Given the description of an element on the screen output the (x, y) to click on. 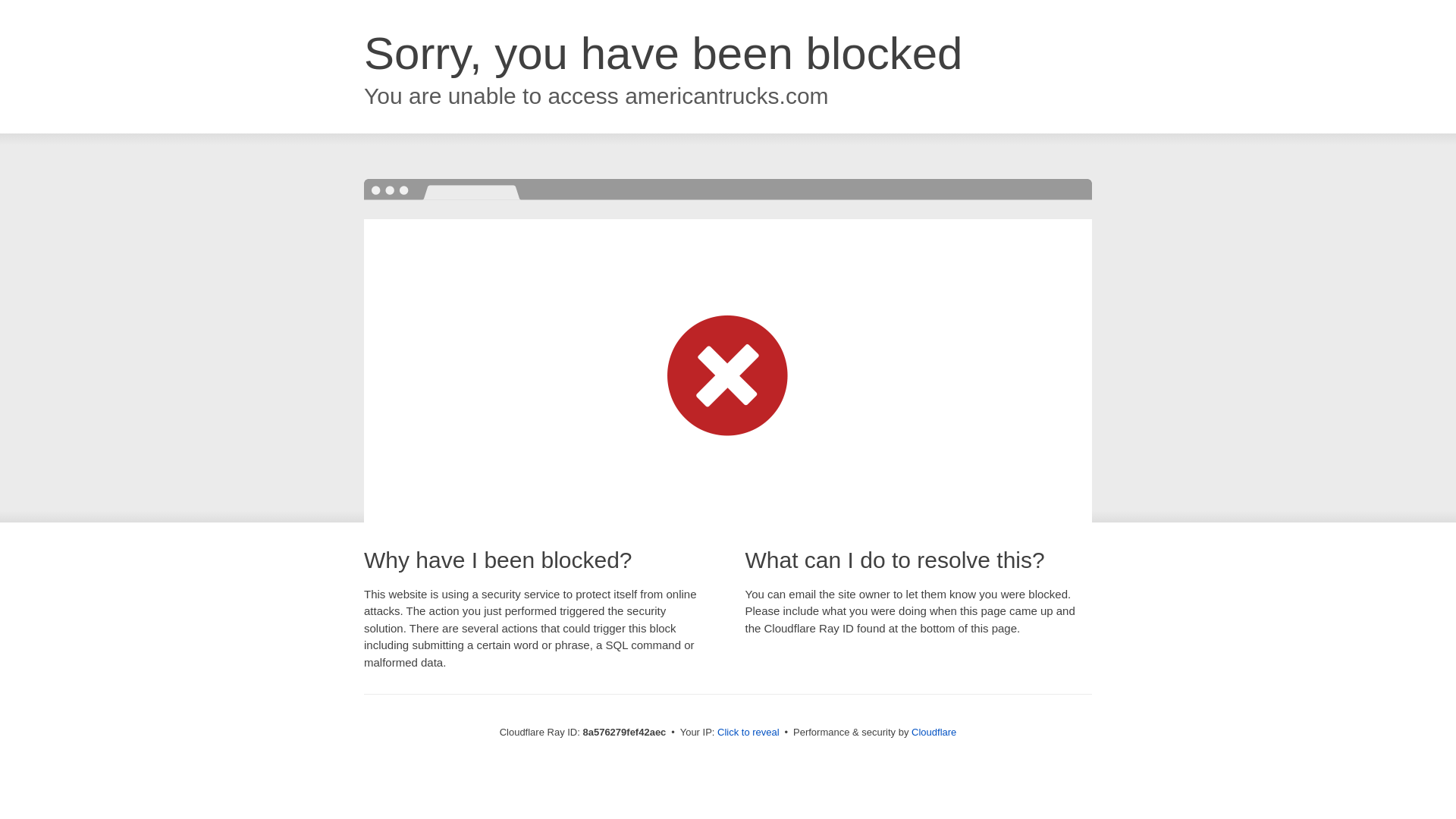
Click to reveal (747, 732)
Cloudflare (933, 731)
